Given the description of an element on the screen output the (x, y) to click on. 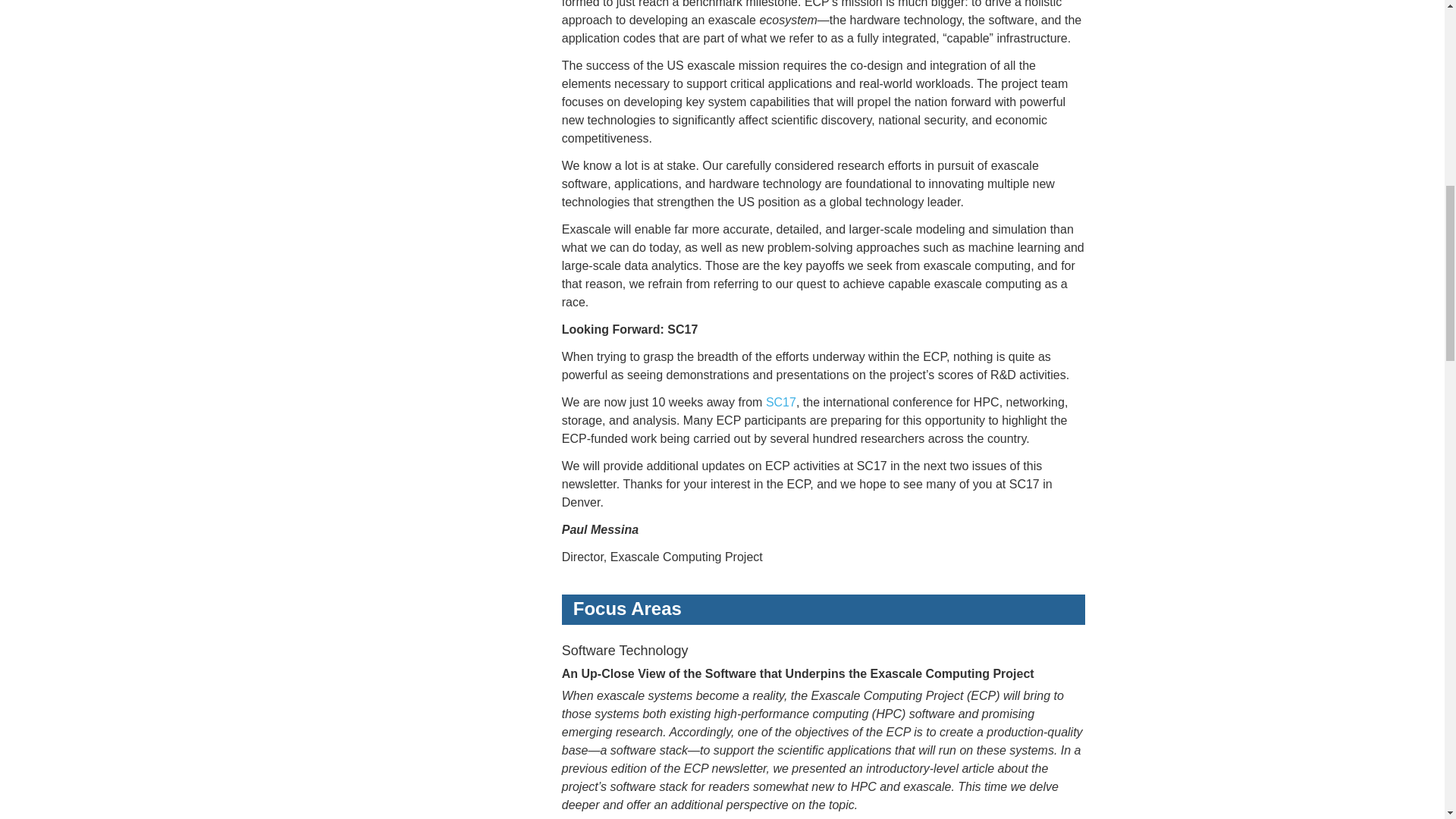
SC17 (780, 401)
